Given the description of an element on the screen output the (x, y) to click on. 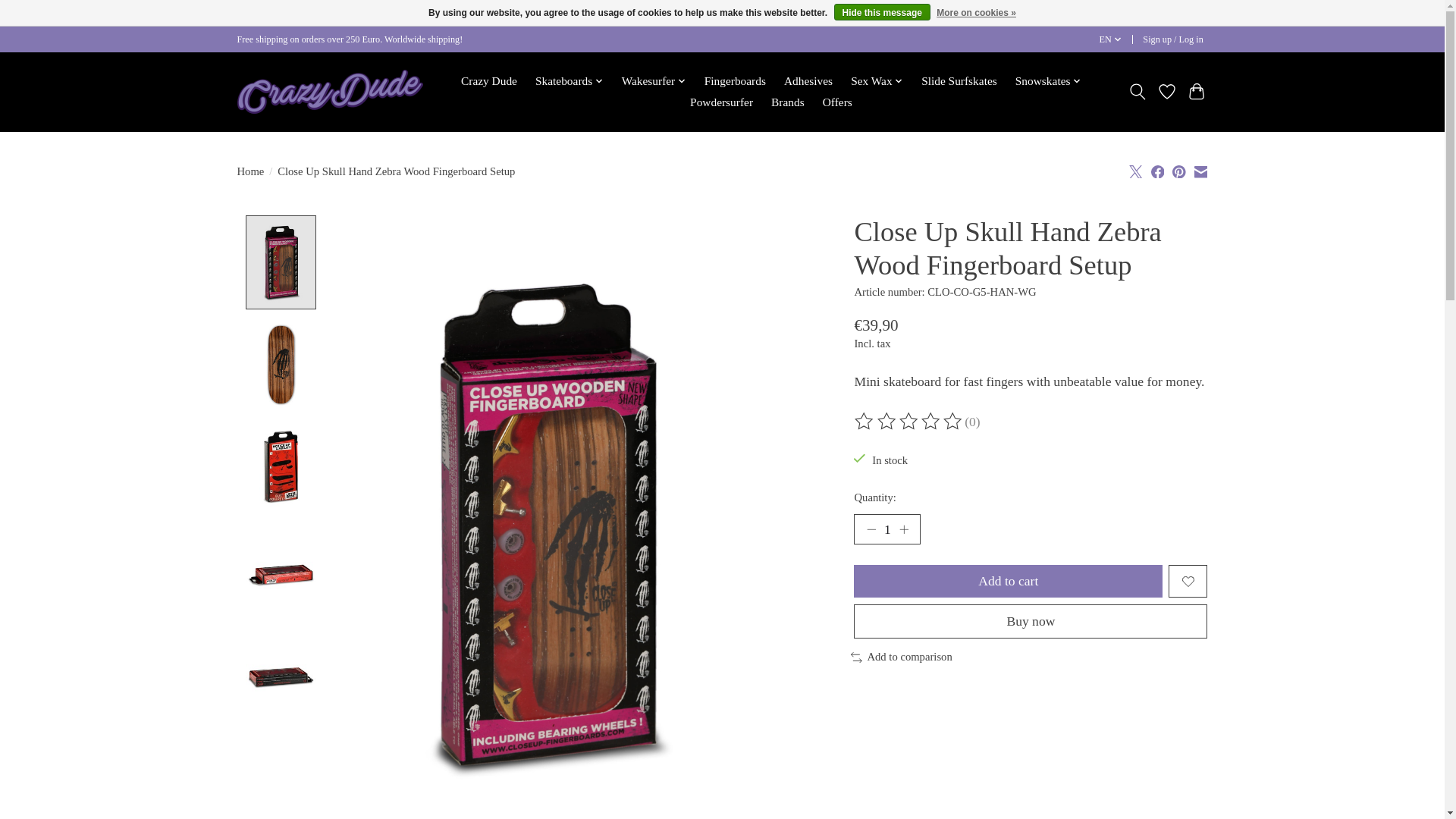
EN (1110, 39)
Adhesives (808, 81)
My account (1173, 39)
Fingerboards (734, 81)
Sex Wax (876, 81)
1 (886, 529)
Wakesurfer (652, 81)
Slide Surfskates (959, 81)
Snowskates (1048, 81)
Crazy Dude (488, 81)
